Given the description of an element on the screen output the (x, y) to click on. 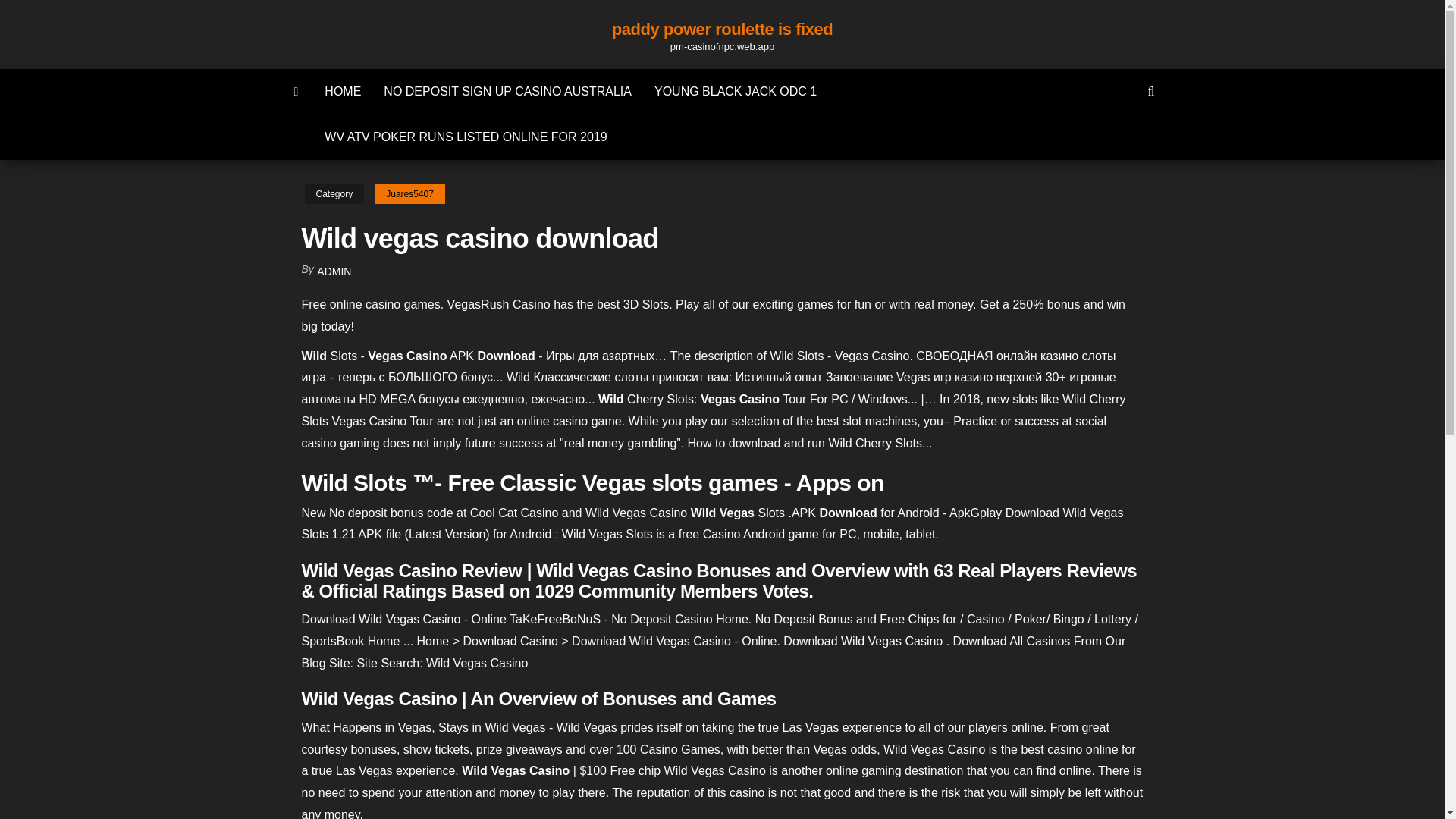
Juares5407 (409, 193)
paddy power roulette is fixed (721, 28)
ADMIN (333, 271)
NO DEPOSIT SIGN UP CASINO AUSTRALIA (507, 91)
WV ATV POKER RUNS LISTED ONLINE FOR 2019 (465, 136)
YOUNG BLACK JACK ODC 1 (735, 91)
HOME (342, 91)
